Given the description of an element on the screen output the (x, y) to click on. 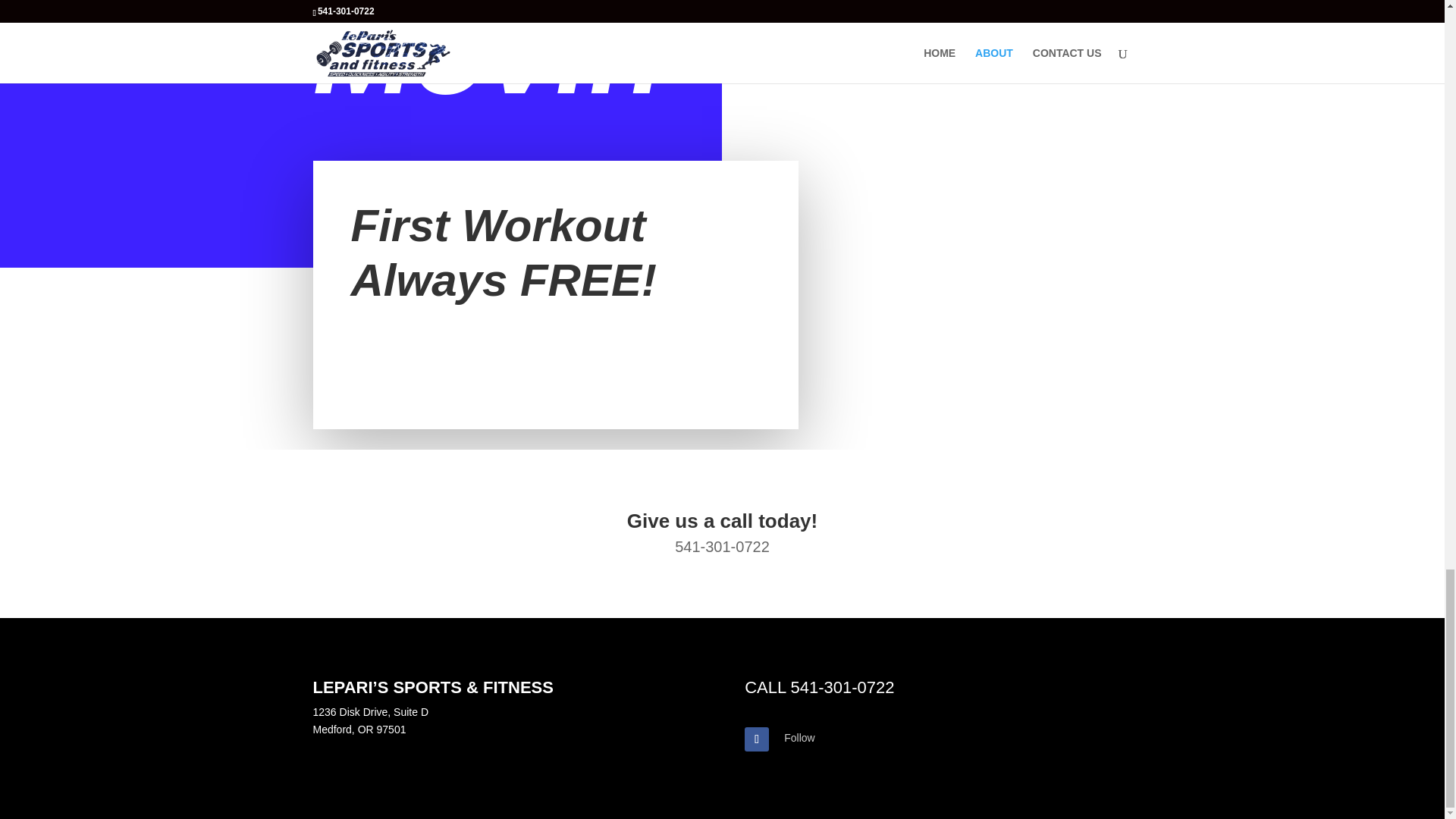
Follow (799, 737)
Follow on Facebook (756, 739)
Facebook (799, 737)
